Given the description of an element on the screen output the (x, y) to click on. 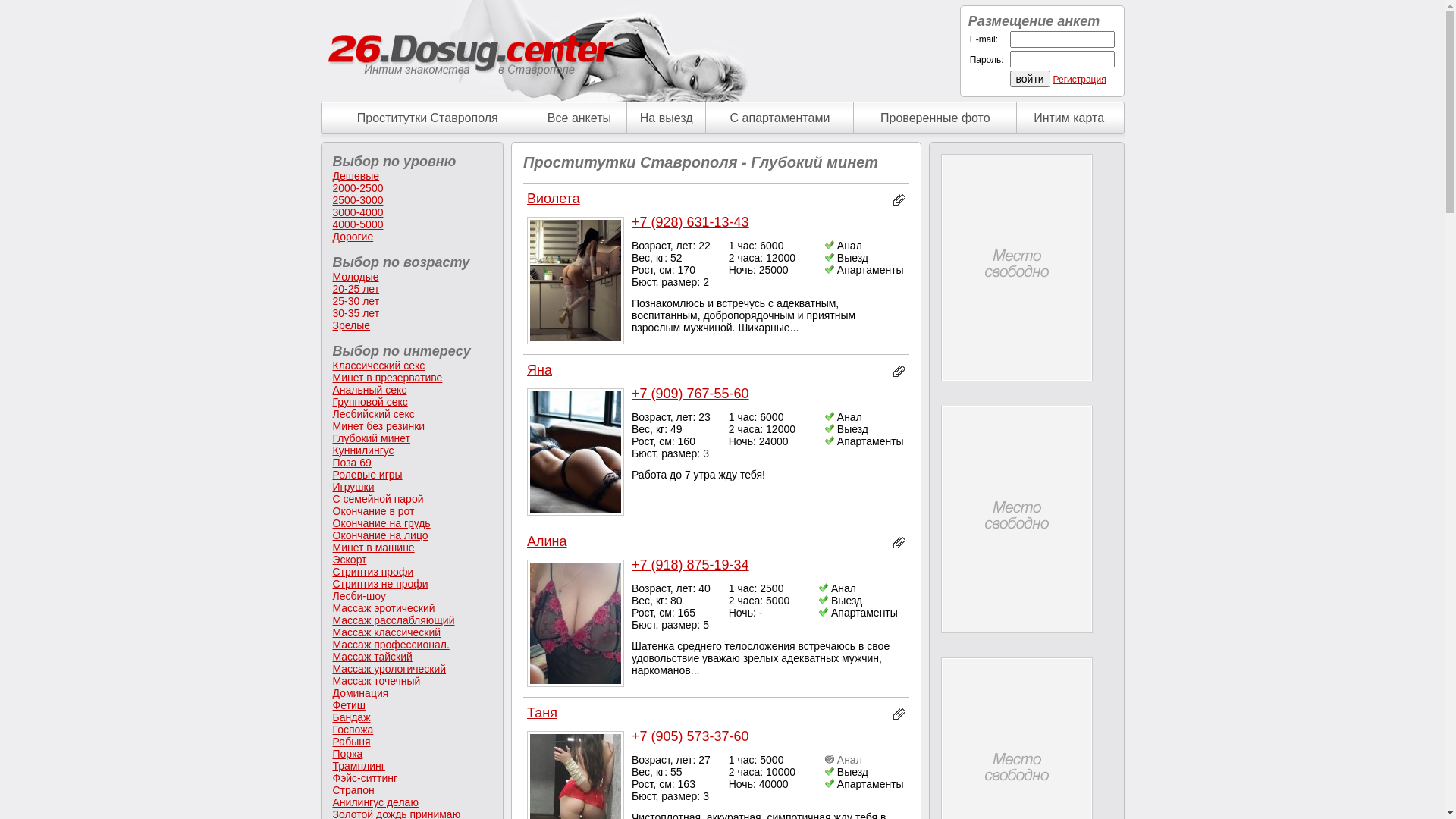
4000-5000 Element type: text (357, 224)
+7 (905) 573-37-60 Element type: text (690, 735)
2500-3000 Element type: text (357, 200)
+7 (909) 767-55-60 Element type: text (690, 393)
2000-2500 Element type: text (357, 188)
3000-4000 Element type: text (357, 212)
+7 (918) 875-19-34 Element type: text (690, 564)
+7 (928) 631-13-43 Element type: text (690, 221)
